Given the description of an element on the screen output the (x, y) to click on. 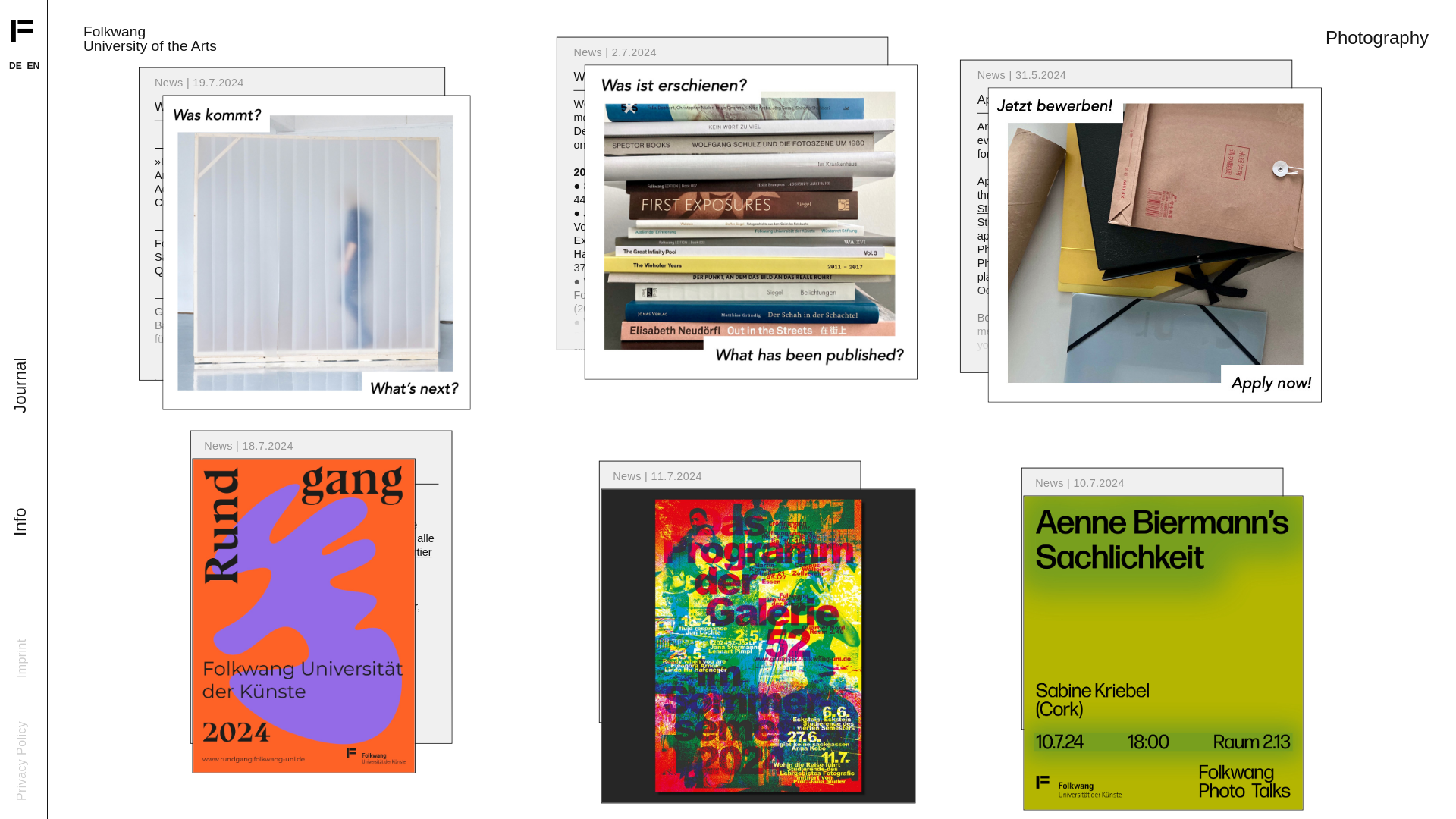
Ph.D. students (723, 118)
EN (33, 65)
Info (24, 524)
team (667, 118)
Fotogeschichte (677, 336)
DE (14, 65)
Privacy Policy (54, 736)
Imprint (34, 653)
here (809, 145)
Prof. Dr. Steffen Siegel (272, 203)
Journal (37, 374)
